Given the description of an element on the screen output the (x, y) to click on. 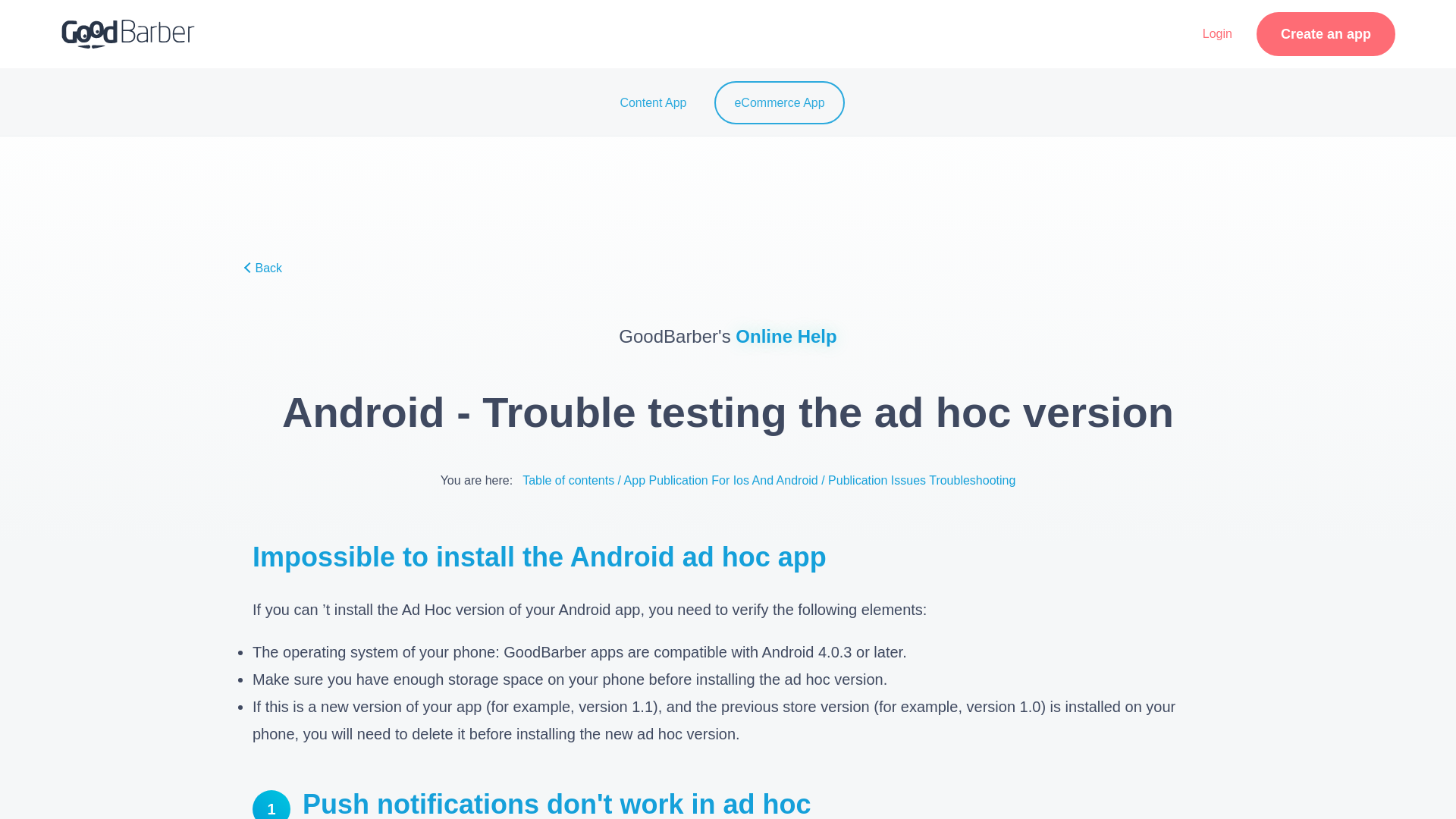
Login (1217, 34)
Create an app (1325, 34)
